Given the description of an element on the screen output the (x, y) to click on. 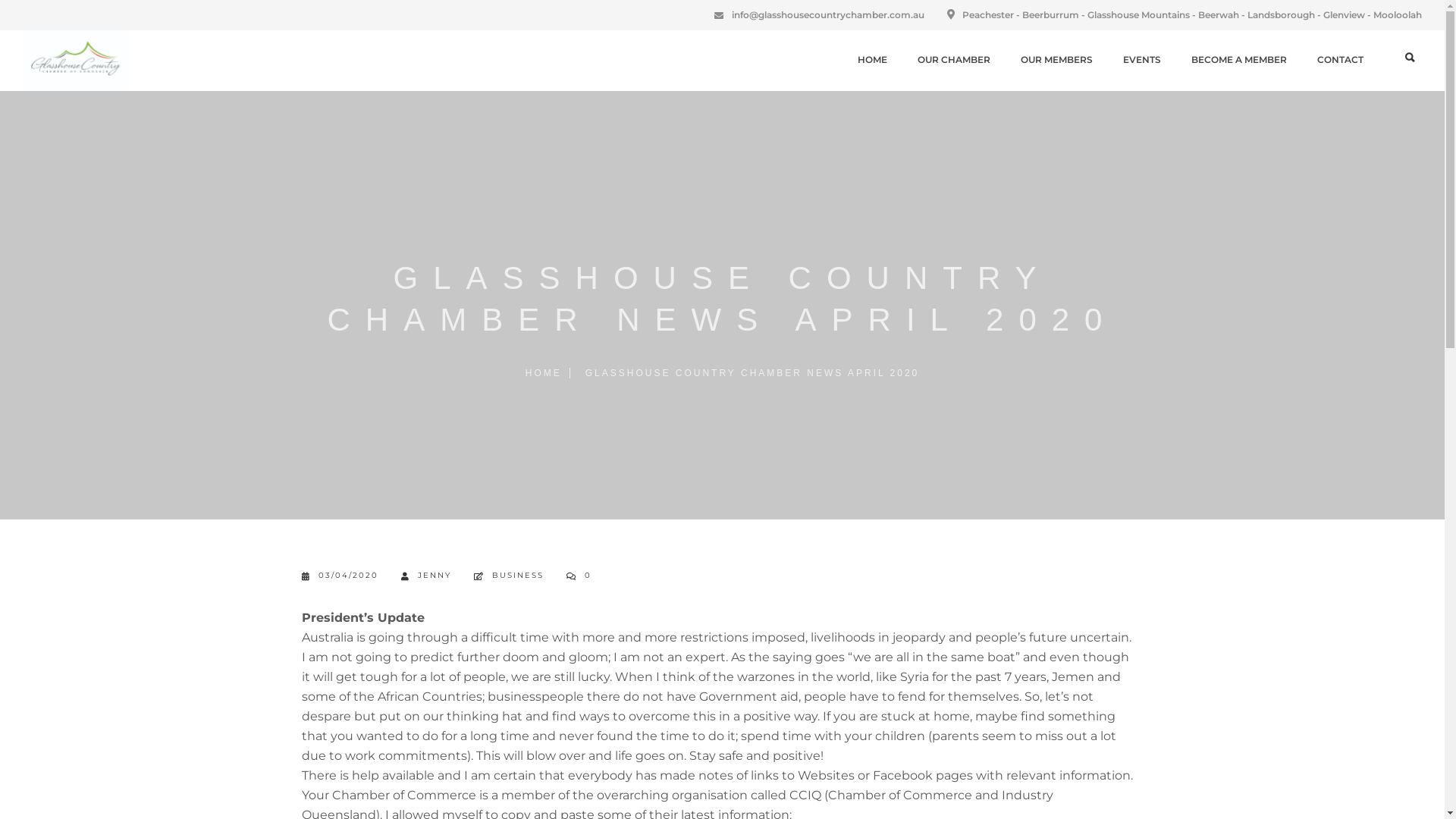
JENNY Element type: text (425, 575)
OUR MEMBERS Element type: text (1056, 59)
info@glasshousecountrychamber.com.au Element type: text (827, 14)
BECOME A MEMBER Element type: text (1238, 59)
EVENTS Element type: text (1142, 59)
HOME Element type: text (547, 372)
CONTACT Element type: text (1340, 59)
HOME Element type: text (872, 59)
0 Element type: text (577, 575)
BUSINESS Element type: text (516, 575)
Search Element type: text (26, 12)
OUR CHAMBER Element type: text (953, 59)
